Given the description of an element on the screen output the (x, y) to click on. 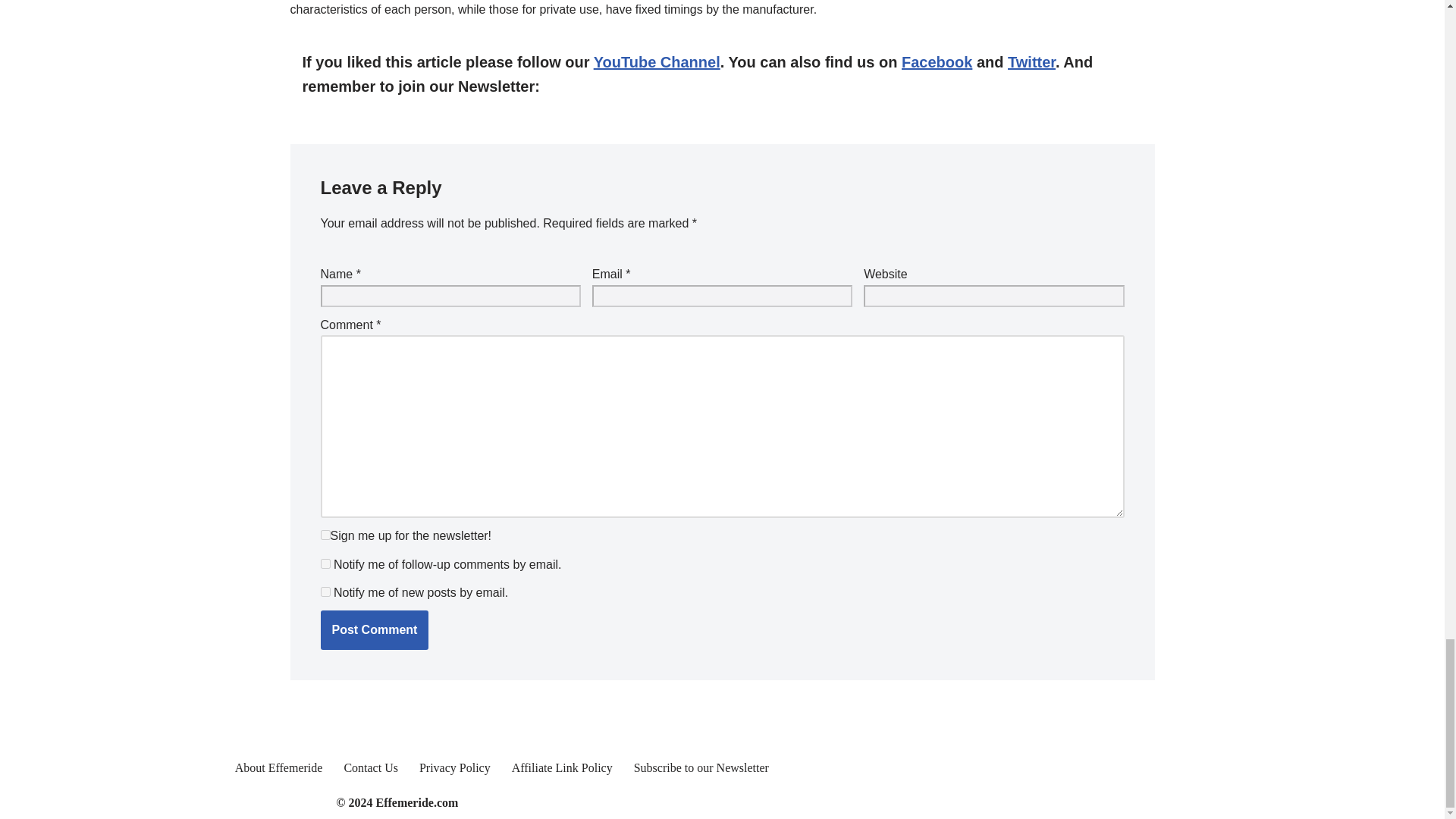
subscribe (325, 563)
Twitter (1031, 62)
Facebook (936, 62)
subscribe (325, 592)
1 (325, 534)
YouTube Channel (657, 62)
Post Comment (374, 630)
